Given the description of an element on the screen output the (x, y) to click on. 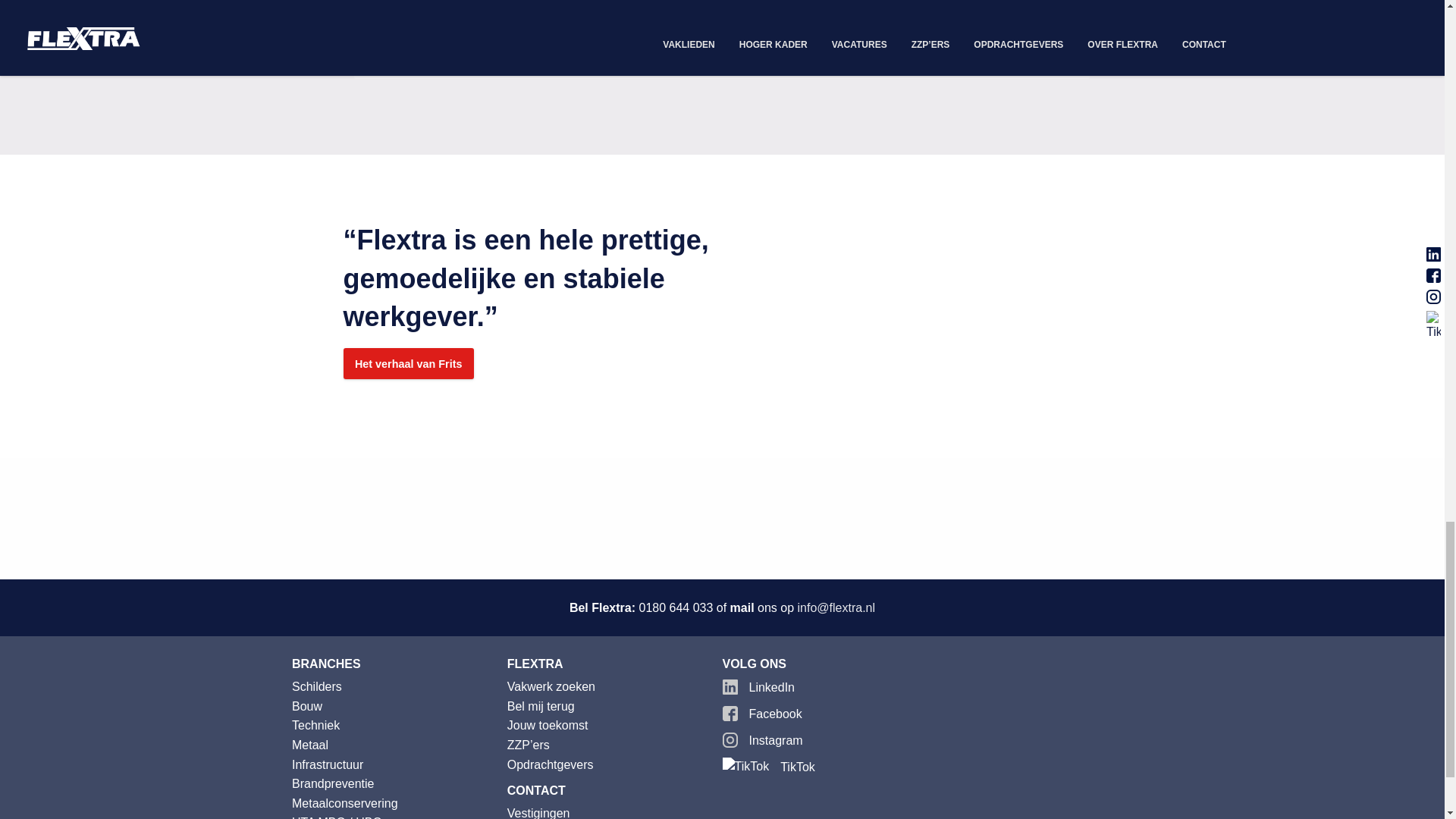
Instagram (829, 737)
Facebook (829, 711)
LinkedIn (829, 684)
TikTok (829, 764)
Frits testimonial thumb - Flextra (962, 306)
